Given the description of an element on the screen output the (x, y) to click on. 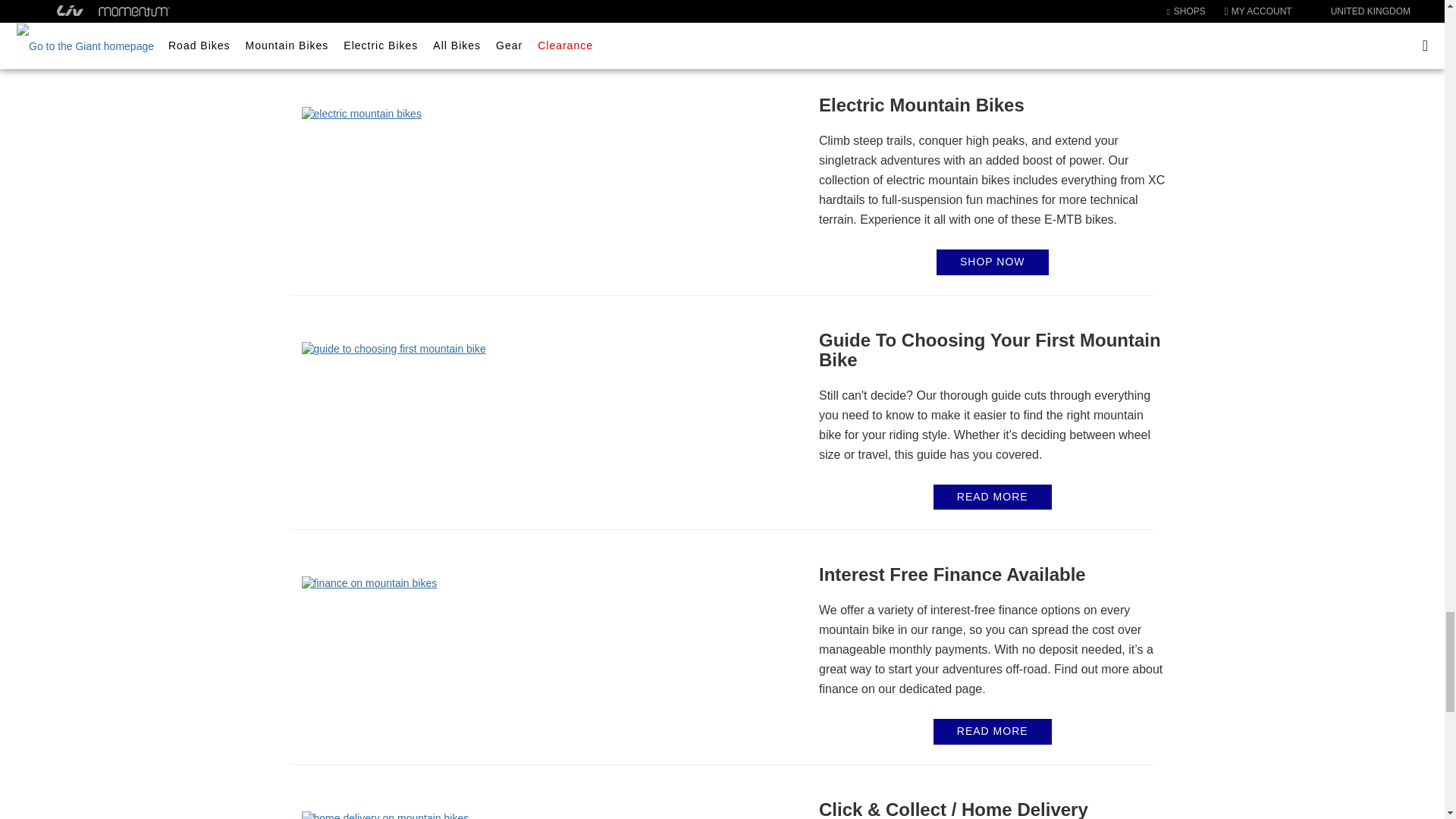
Read More (992, 496)
shop now (992, 27)
shop now (992, 262)
Read More (992, 731)
